Given the description of an element on the screen output the (x, y) to click on. 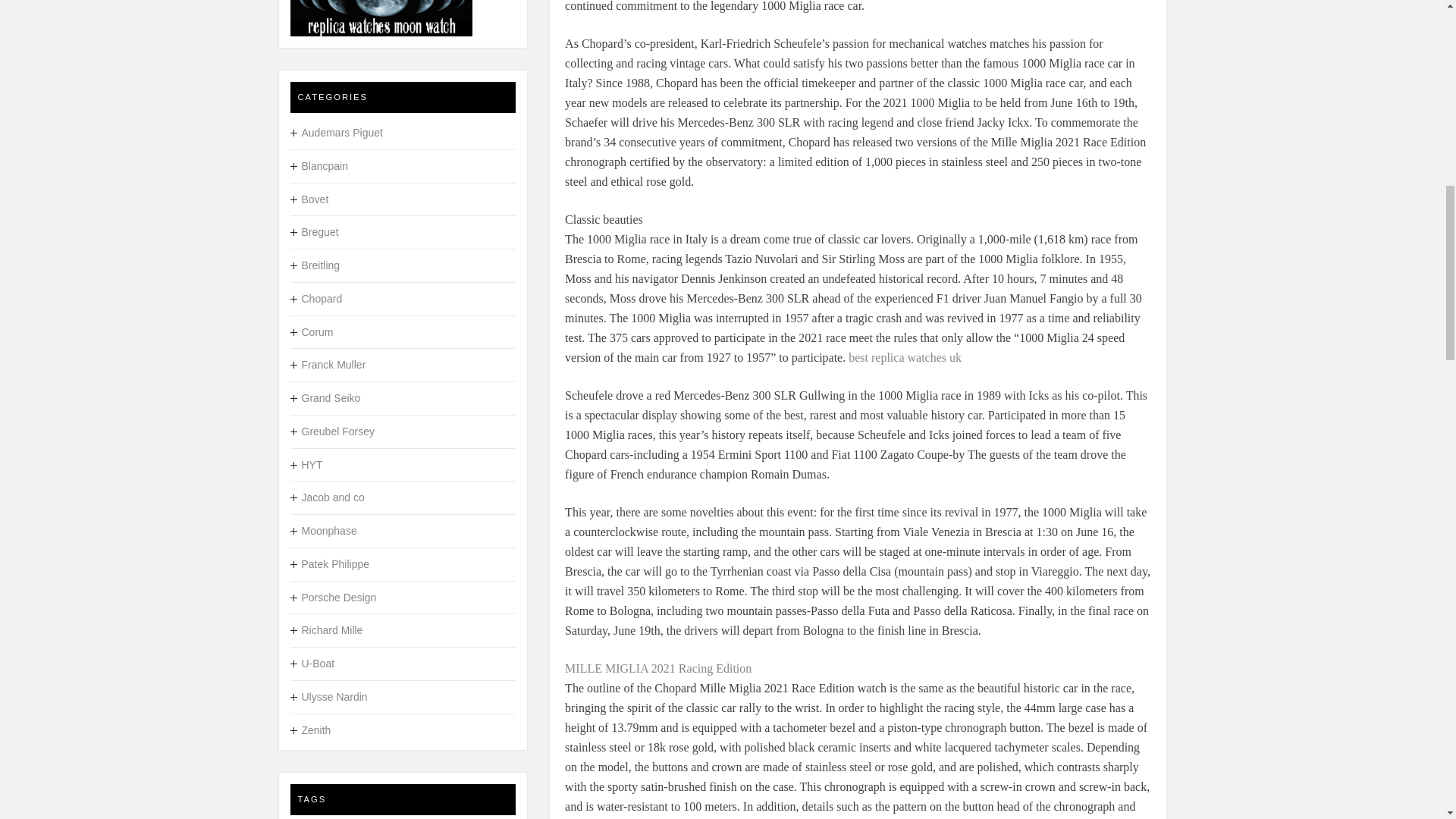
MILLE MIGLIA 2021 Racing Edition (657, 667)
best replica watches uk (904, 356)
